Given the description of an element on the screen output the (x, y) to click on. 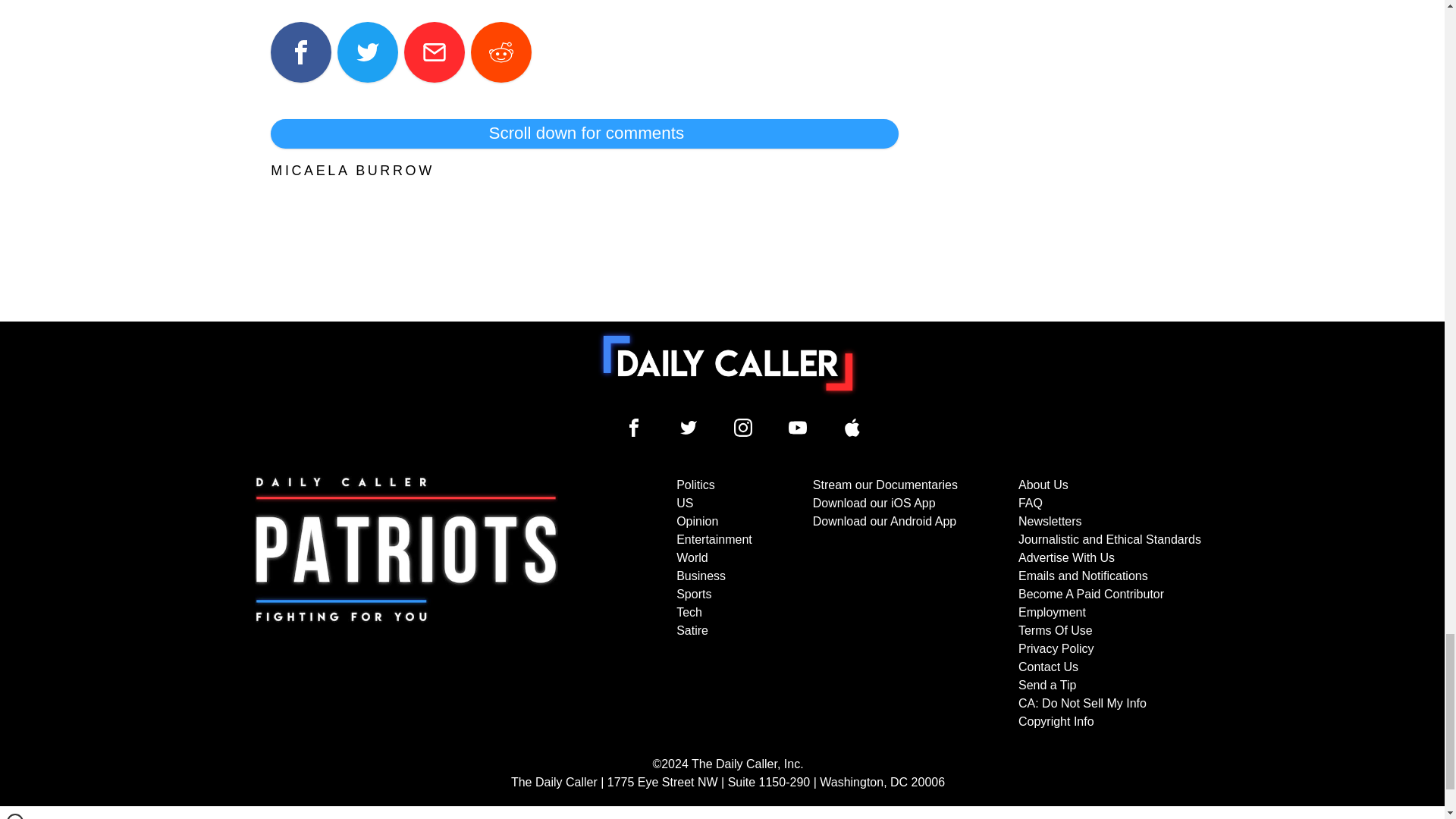
Daily Caller Twitter (688, 427)
Daily Caller Facebook (633, 427)
To home page (727, 362)
Scroll down for comments (584, 133)
Subscribe to The Daily Caller (405, 603)
Daily Caller Instagram (742, 427)
Daily Caller YouTube (797, 427)
Daily Caller YouTube (852, 427)
